Given the description of an element on the screen output the (x, y) to click on. 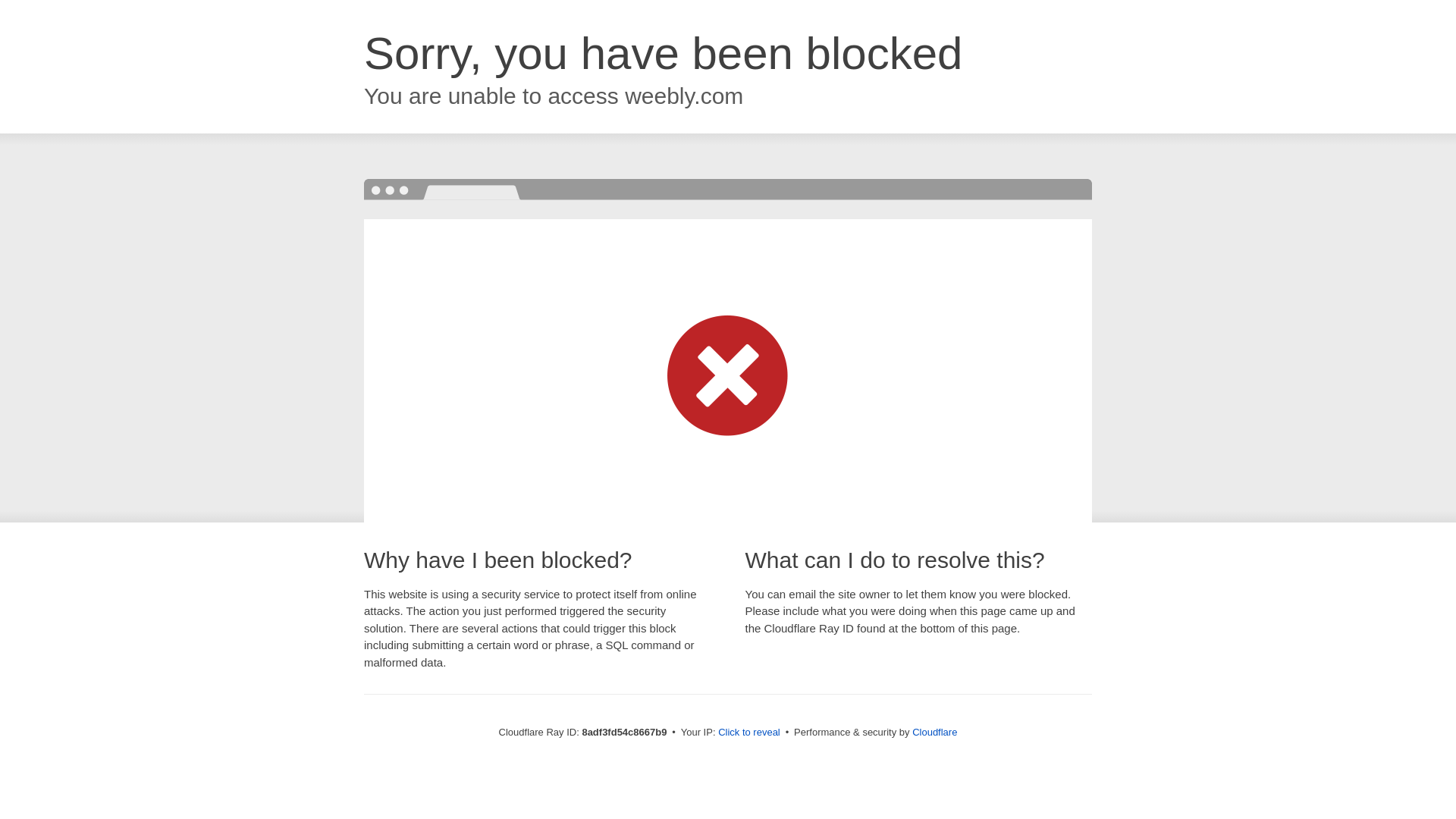
Cloudflare (934, 731)
Click to reveal (748, 732)
